Given the description of an element on the screen output the (x, y) to click on. 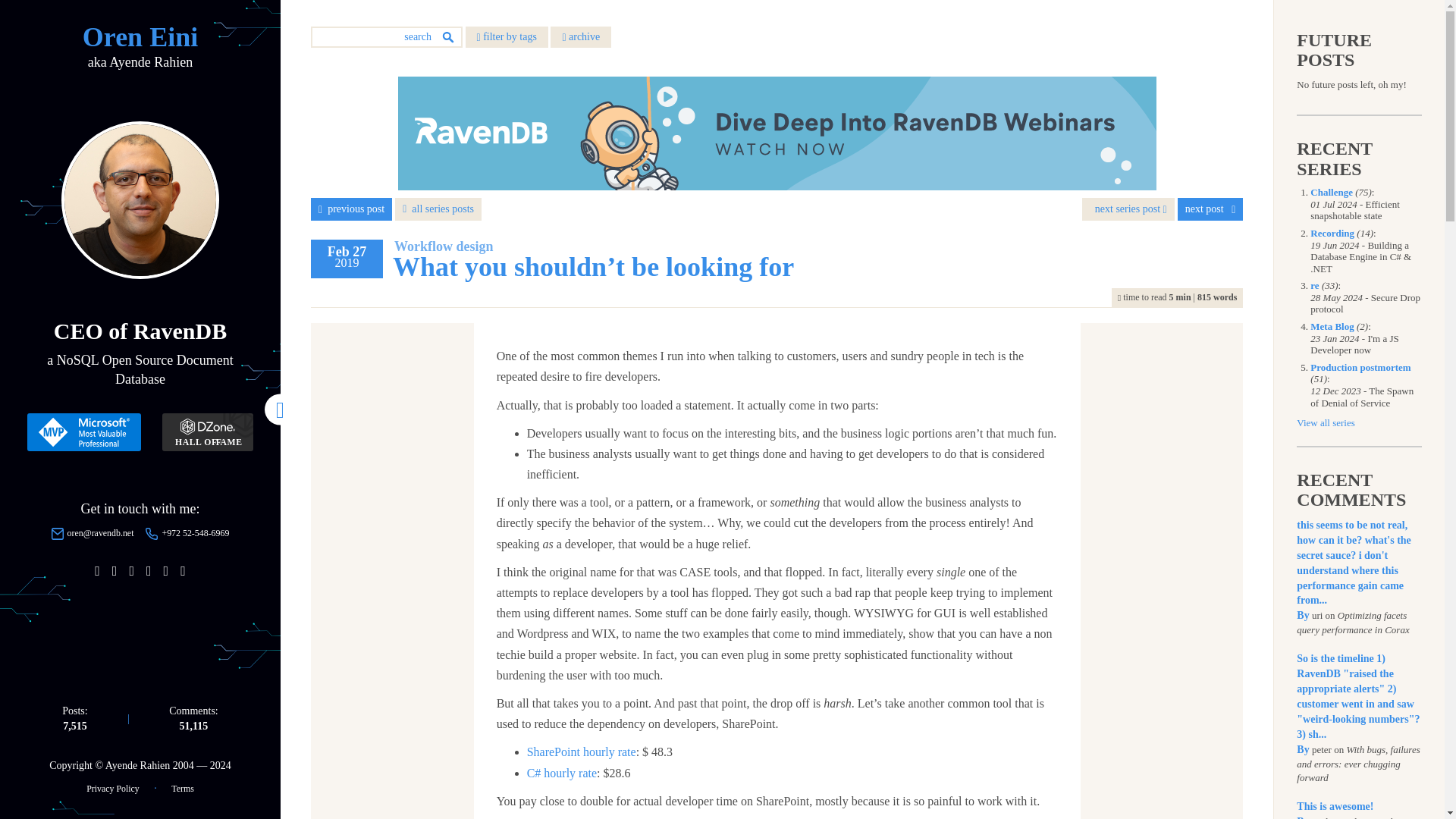
Microsoft MVP Reconnect Oren Eini (84, 432)
filter by tags (506, 36)
Deep Dive into RavenDB webinars (776, 133)
Privacy Policy (112, 787)
DZone 2020 Hall of Fame Award Winner (207, 432)
archive (580, 36)
Terms (182, 787)
